Given the description of an element on the screen output the (x, y) to click on. 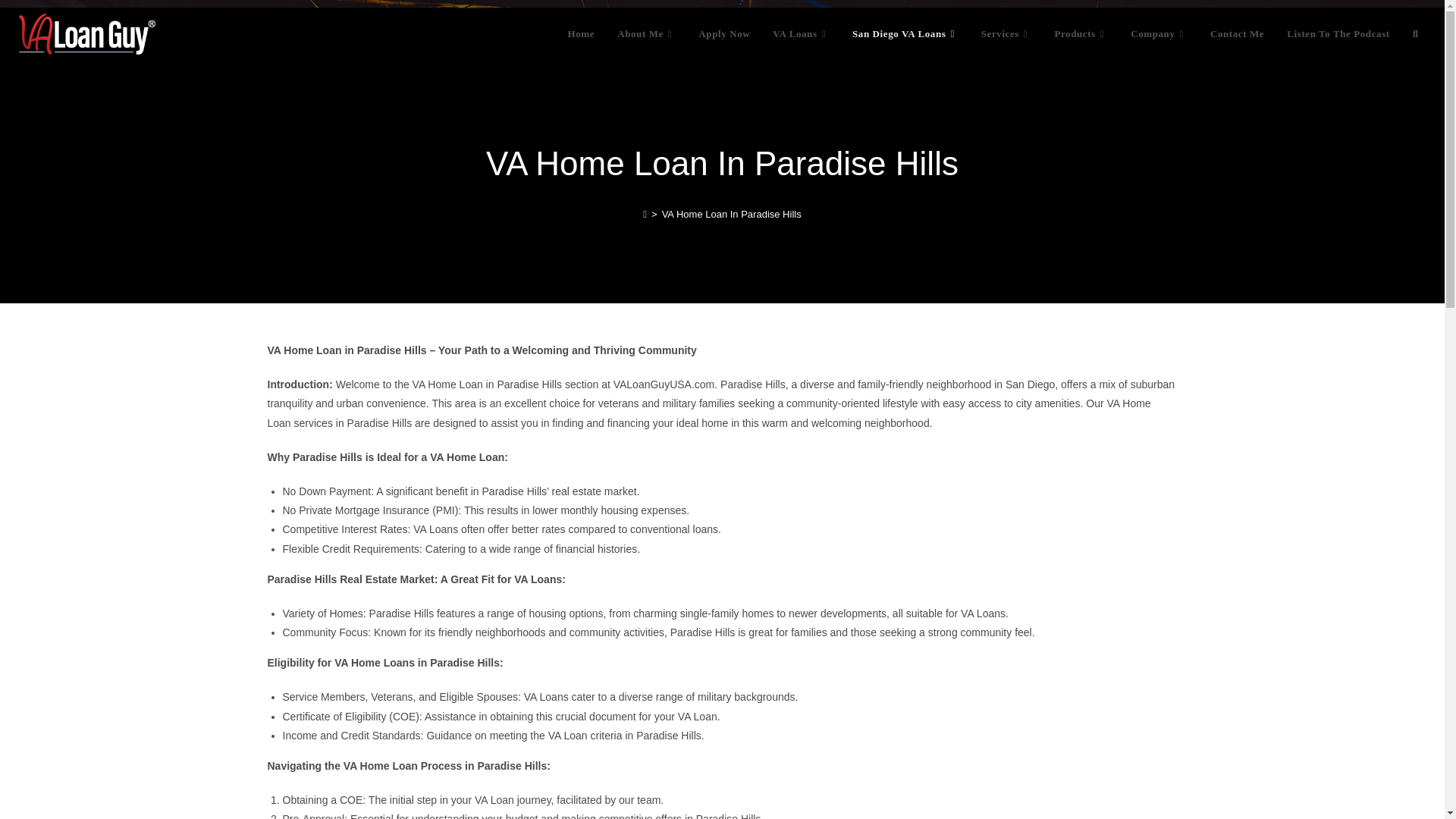
About Me (646, 33)
ll - VA Loan Guy USA (86, 33)
San Diego VA Loans (905, 33)
Home (581, 33)
Apply Now (724, 33)
VA Loans (801, 33)
